Given the description of an element on the screen output the (x, y) to click on. 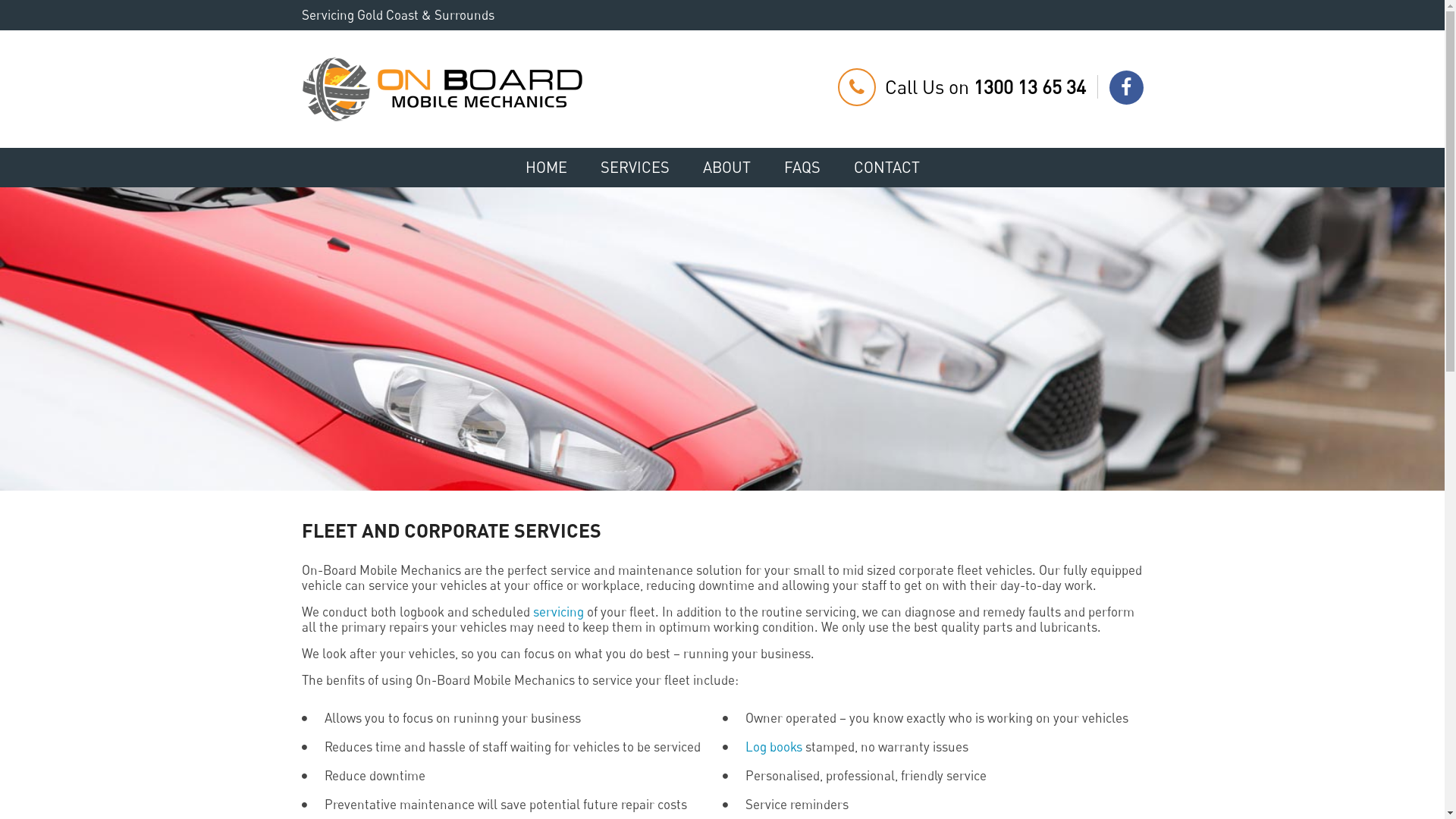
FAQS Element type: text (801, 166)
CONTACT Element type: text (886, 166)
servicing Element type: text (557, 611)
Log books Element type: text (774, 746)
Onboard Mobile Mechanic Element type: hover (441, 87)
HOME Element type: text (545, 166)
ABOUT Element type: text (726, 166)
SERVICES Element type: text (634, 166)
